Given the description of an element on the screen output the (x, y) to click on. 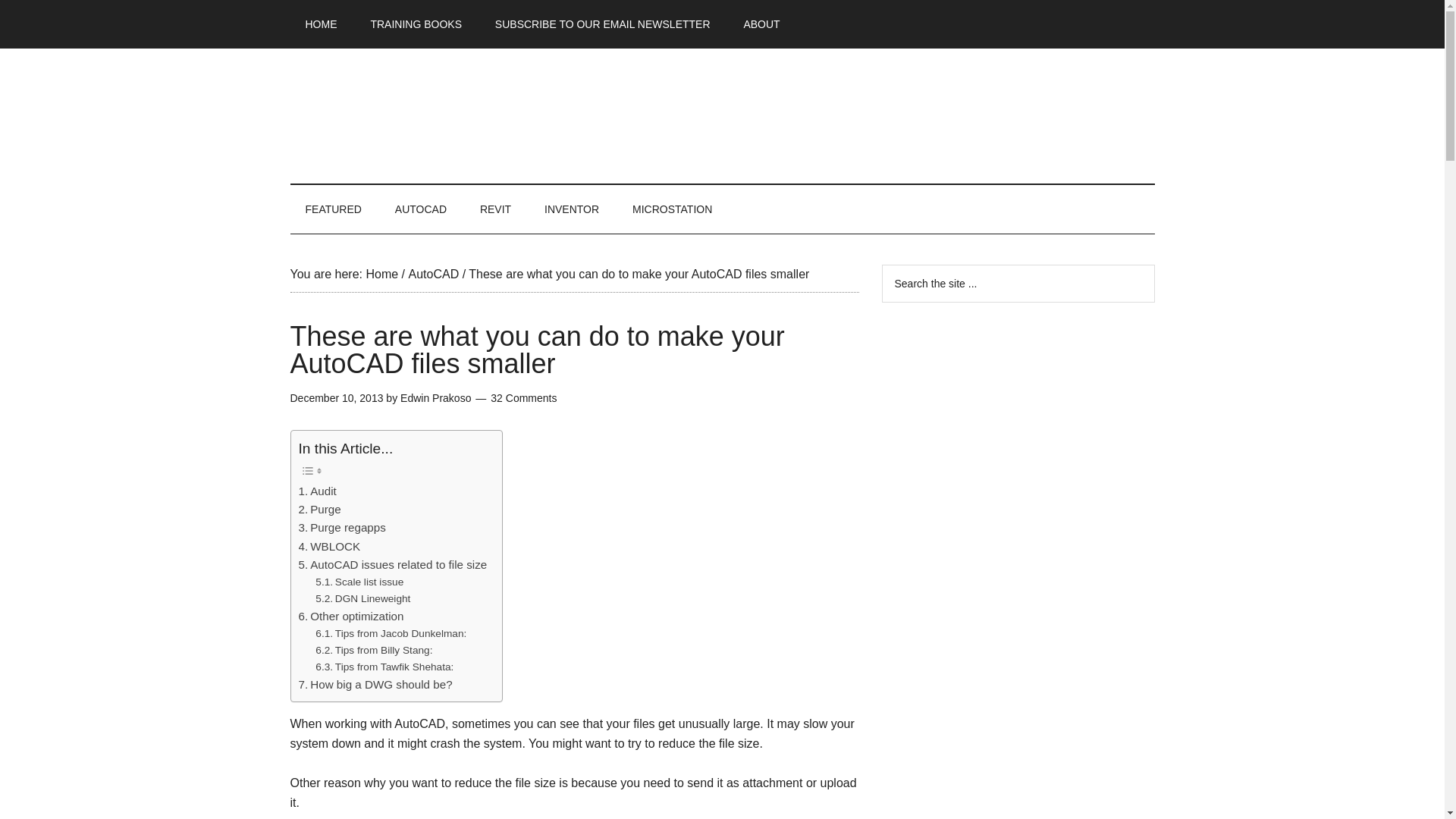
How big a DWG should be? (375, 684)
WBLOCK (329, 546)
32 Comments (523, 398)
Tips from Jacob Dunkelman: (390, 633)
Purge regapps (341, 527)
DGN Lineweight (362, 598)
Audit (317, 491)
Other optimization (351, 616)
AutoCAD issues related to file size (392, 565)
Scale list issue (359, 582)
